Given the description of an element on the screen output the (x, y) to click on. 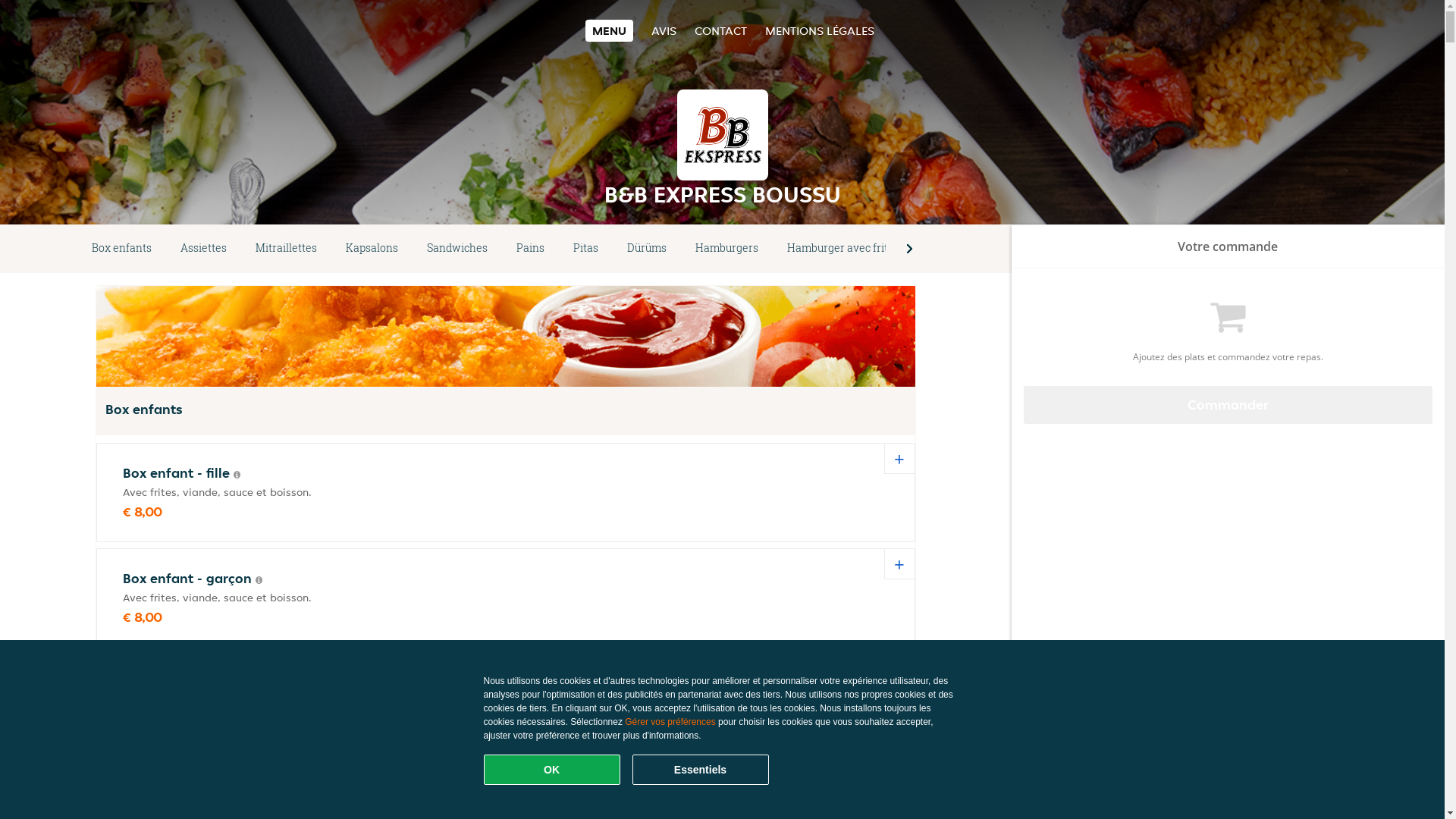
Pains Element type: text (530, 248)
Commander Element type: text (1228, 404)
Hamburgers Element type: text (726, 248)
OK Element type: text (551, 769)
Kapsalons Element type: text (371, 248)
Sandwiches Element type: text (457, 248)
Plus d'informations sur le produit Element type: hover (258, 579)
Pitas Element type: text (585, 248)
Hamburger avec frites Element type: text (842, 248)
Essentiels Element type: text (700, 769)
Plus d'informations sur le produit Element type: hover (236, 474)
AVIS Element type: text (663, 30)
Box enfants Element type: text (121, 248)
Assiettes Element type: text (203, 248)
MENU Element type: text (609, 30)
CONTACT Element type: text (720, 30)
Mitraillettes Element type: text (286, 248)
